Given the description of an element on the screen output the (x, y) to click on. 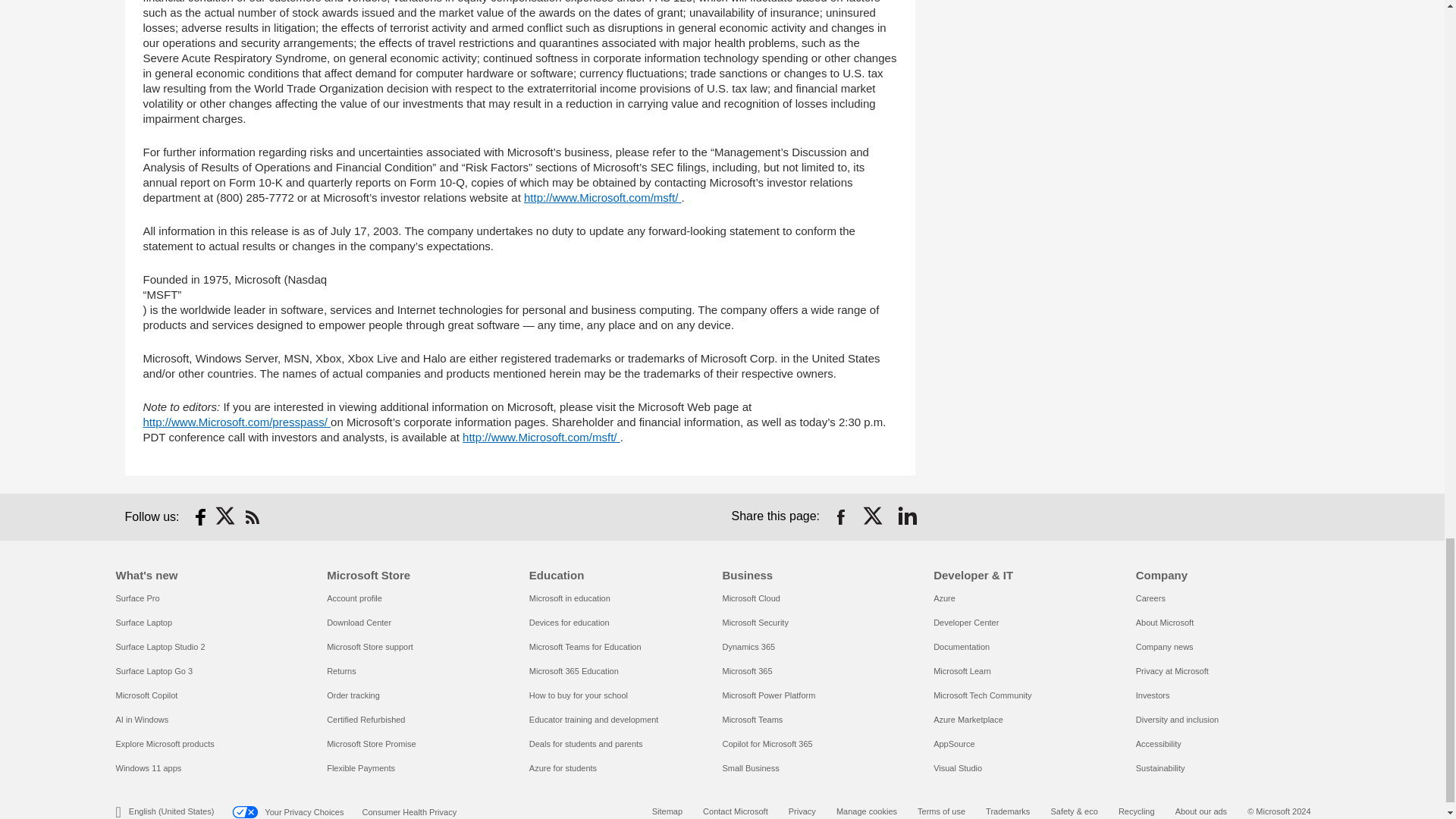
Share on Facebook (840, 517)
Follow on Facebook (200, 517)
RSS Subscription (252, 517)
Share on Twitter (873, 517)
Share on LinkedIn (907, 517)
Follow on Twitter (226, 517)
